Given the description of an element on the screen output the (x, y) to click on. 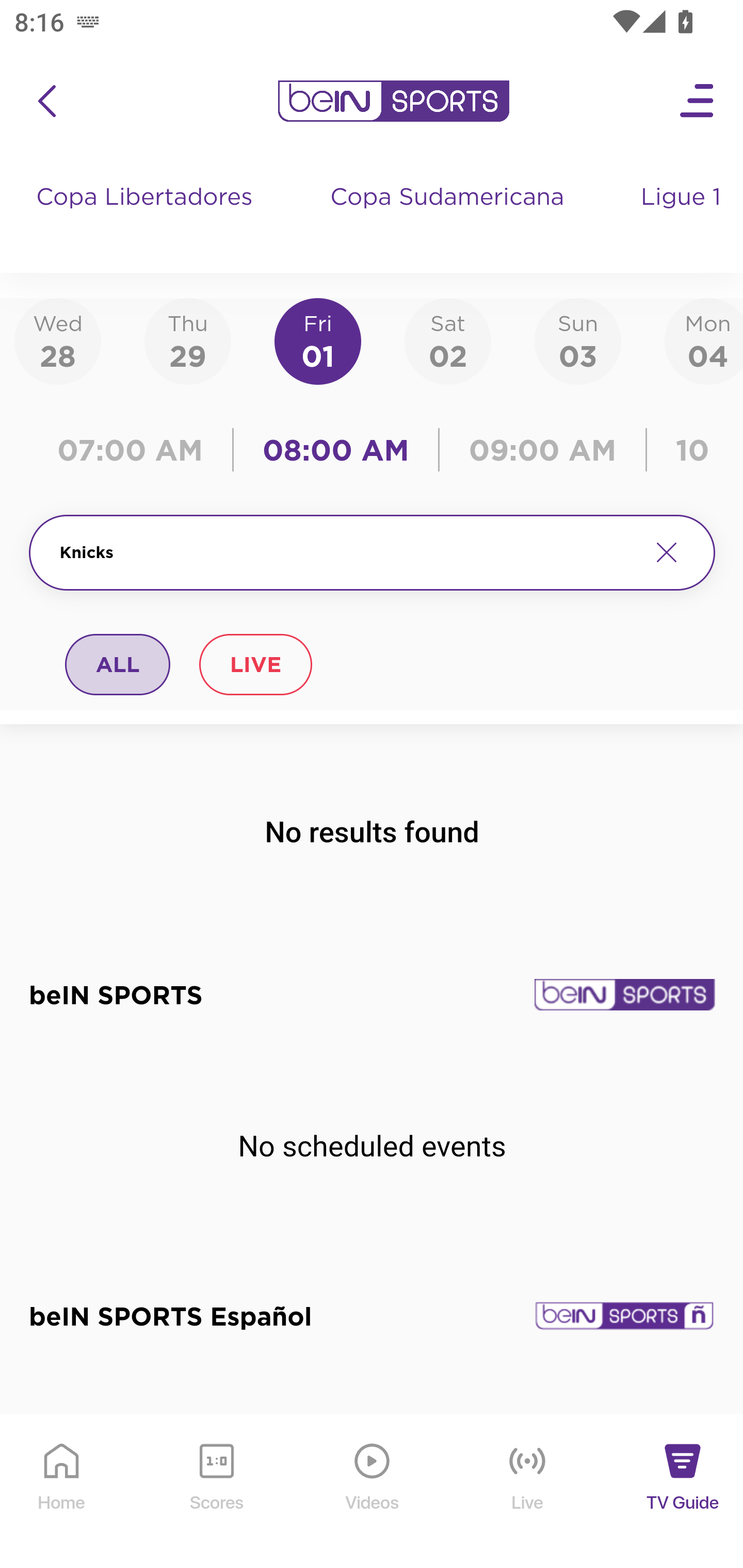
en-us?platform=mobile_android bein logo (392, 101)
icon back (46, 101)
Open Menu Icon (697, 101)
Copa Libertadores (146, 216)
Copa Sudamericana (448, 216)
Ligue 1 (682, 216)
Wed28 (58, 340)
Thu29 (187, 340)
Fri01 (318, 340)
Sat02 (447, 340)
Sun03 (578, 340)
Mon04 (703, 340)
07:00 AM (135, 449)
08:00 AM (336, 449)
09:00 AM (542, 449)
Knicks (346, 552)
ALL (118, 663)
LIVE (255, 663)
Home Home Icon Home (61, 1491)
Scores Scores Icon Scores (216, 1491)
Videos Videos Icon Videos (372, 1491)
TV Guide TV Guide Icon TV Guide (682, 1491)
